Given the description of an element on the screen output the (x, y) to click on. 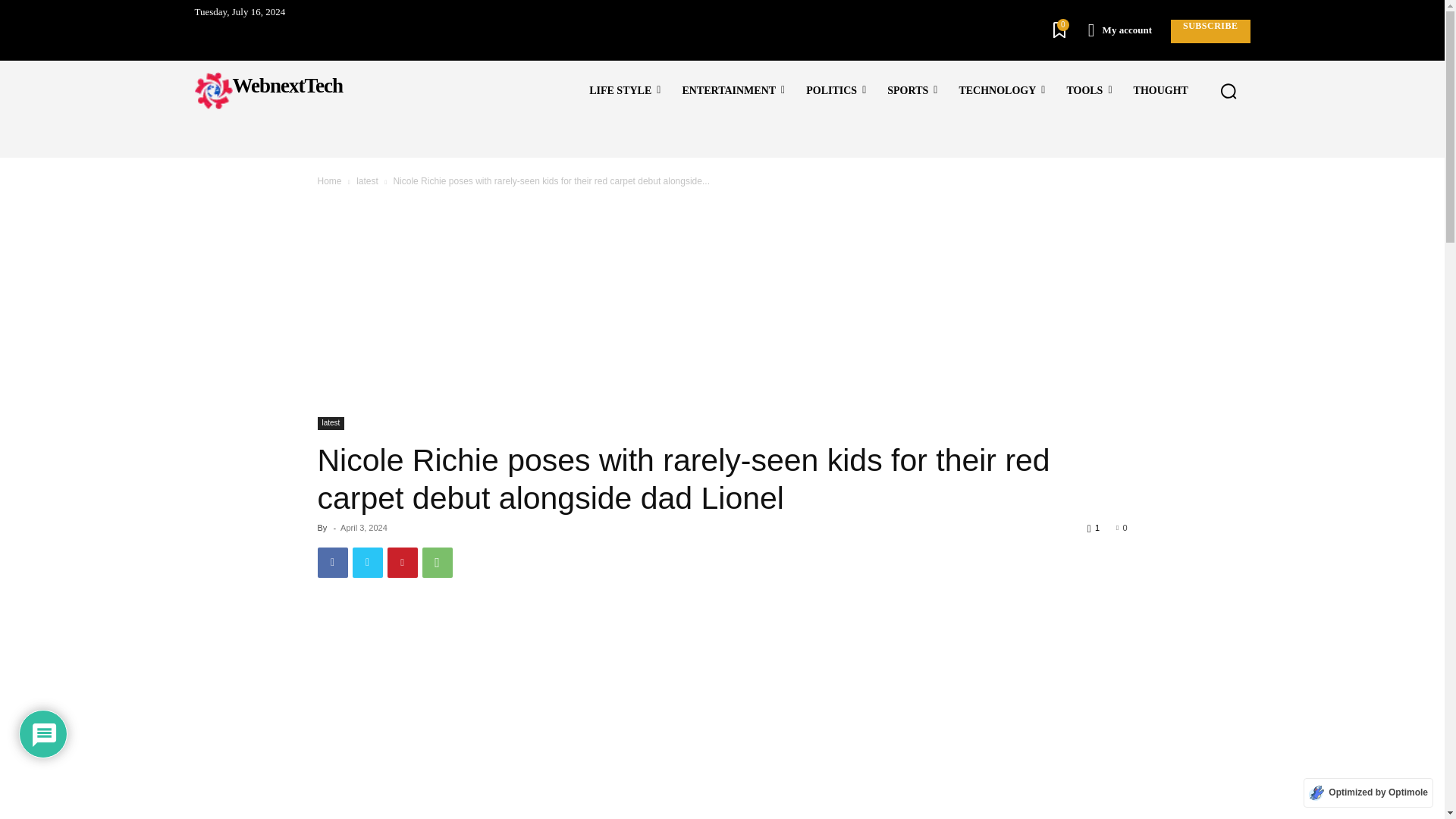
Subscribe (1210, 31)
